Given the description of an element on the screen output the (x, y) to click on. 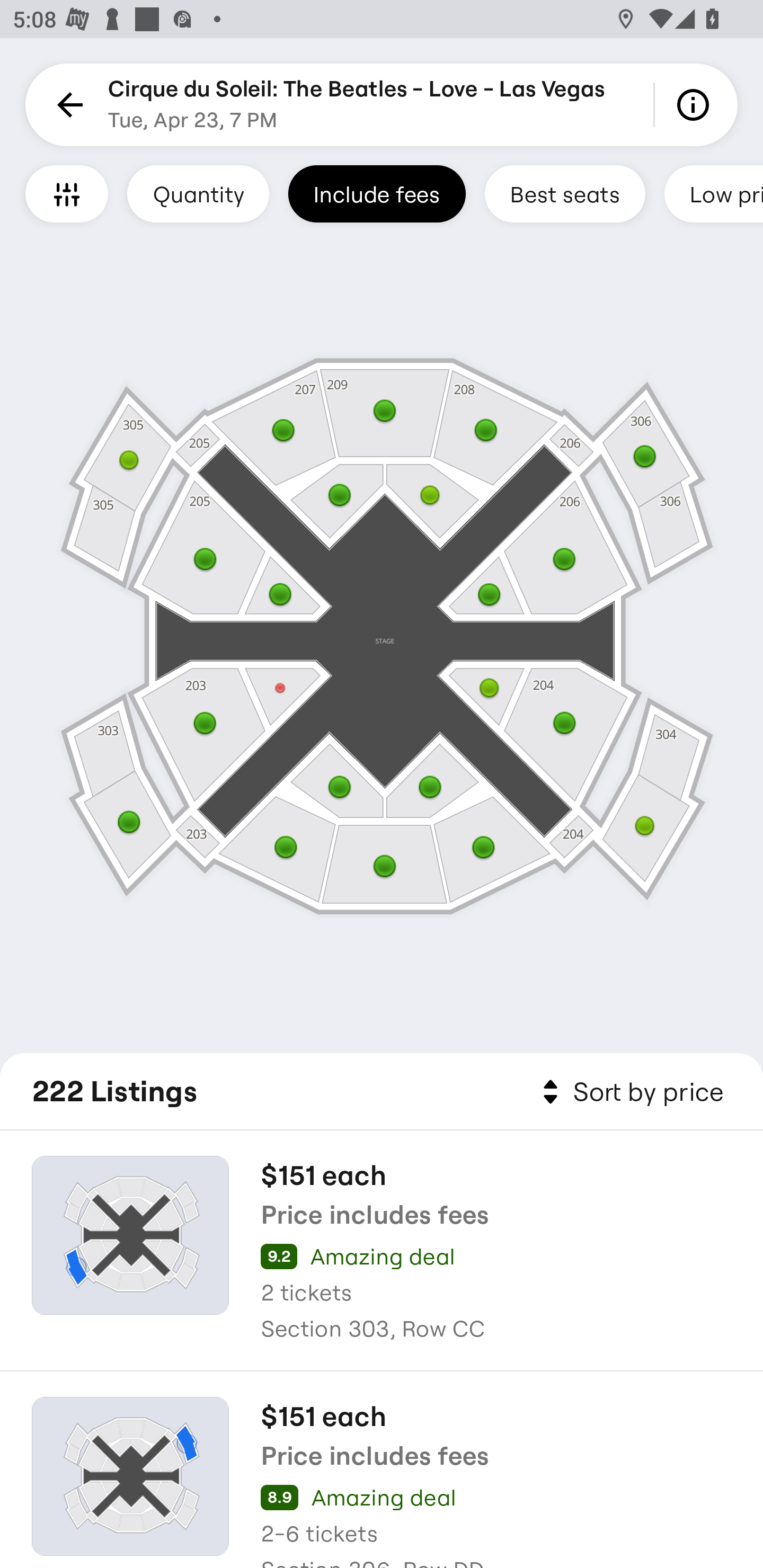
Back (66, 104)
Info (695, 104)
Filters and Accessible Seating (66, 193)
Quantity (198, 193)
Include fees (376, 193)
Best seats (564, 193)
Low prices (713, 193)
Sort by price (629, 1091)
